Given the description of an element on the screen output the (x, y) to click on. 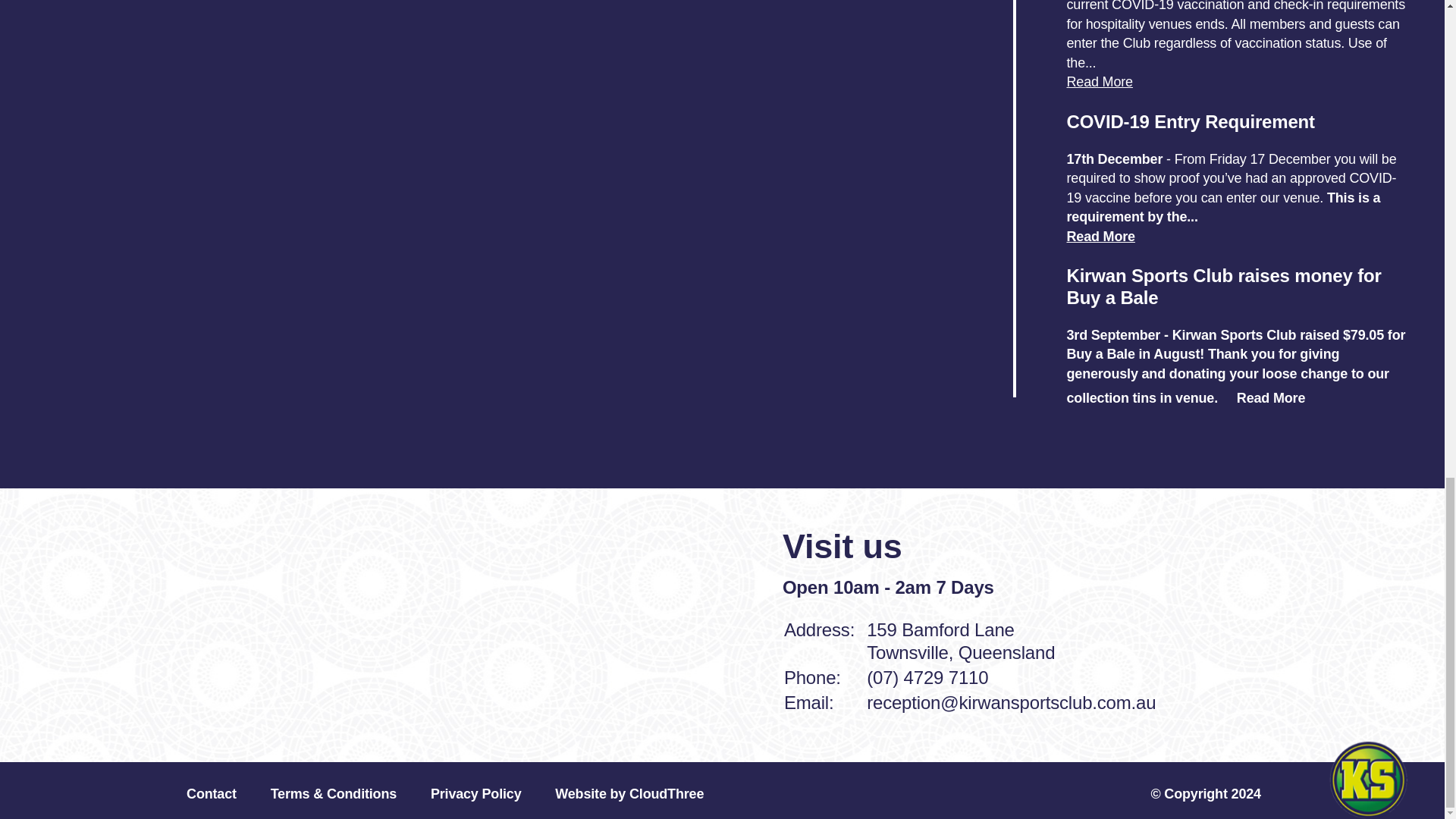
Contact (210, 793)
Privacy Policy (475, 793)
Website by CloudThree (628, 793)
